Given the description of an element on the screen output the (x, y) to click on. 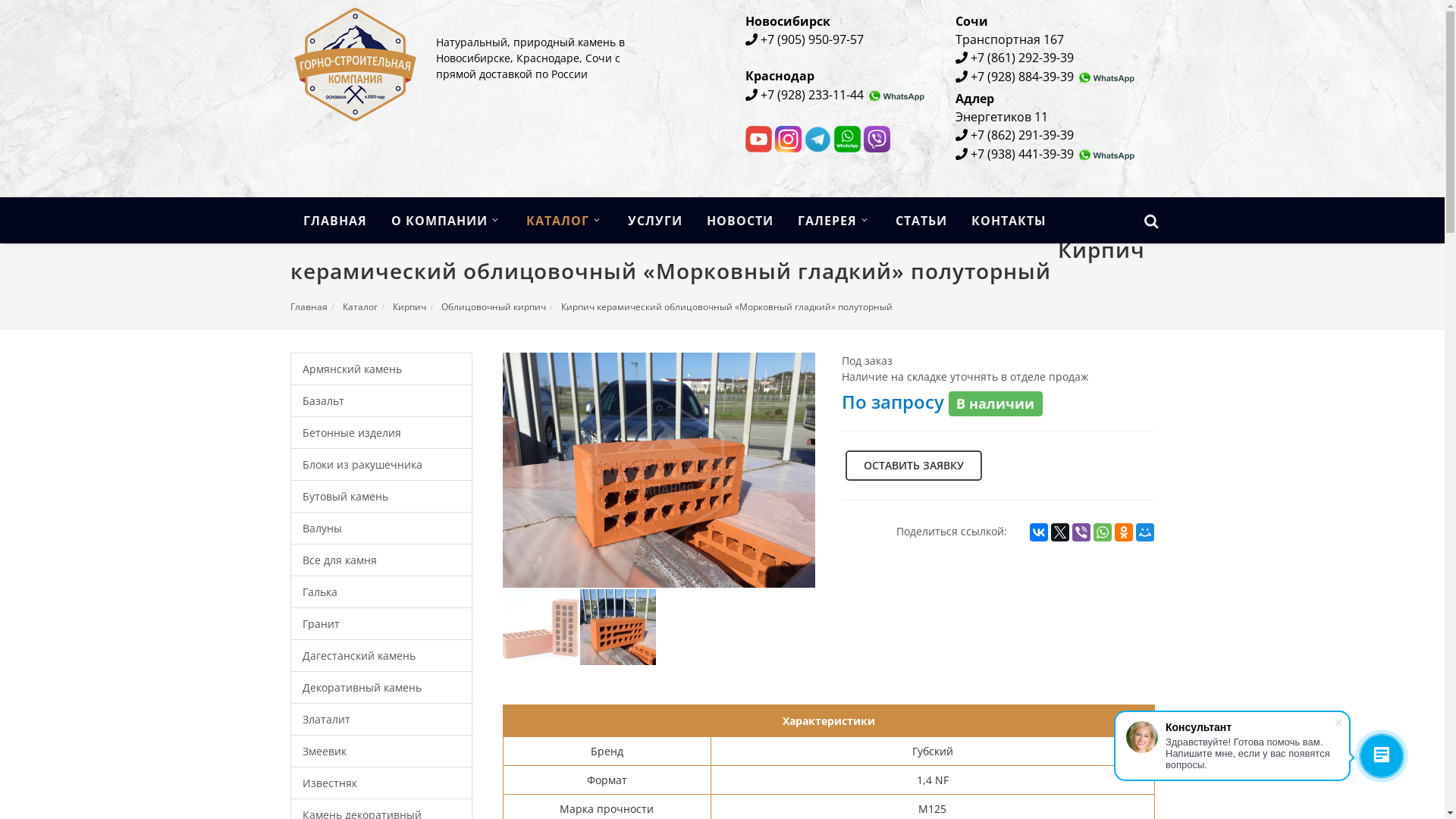
+7 (938) 441-39-39 Element type: text (1021, 153)
+7 (862) 291-39-39 Element type: text (1021, 134)
Viber Element type: hover (1081, 532)
+7 (861) 292-39-39 Element type: text (1021, 57)
WhatsApp Element type: hover (1102, 532)
+7 (928) 233-11-44 Element type: text (811, 94)
+7 (905) 950-97-57 Element type: text (811, 39)
+7 (928) 884-39-39 Element type: text (1021, 76)
Twitter Element type: hover (1060, 532)
